Given the description of an element on the screen output the (x, y) to click on. 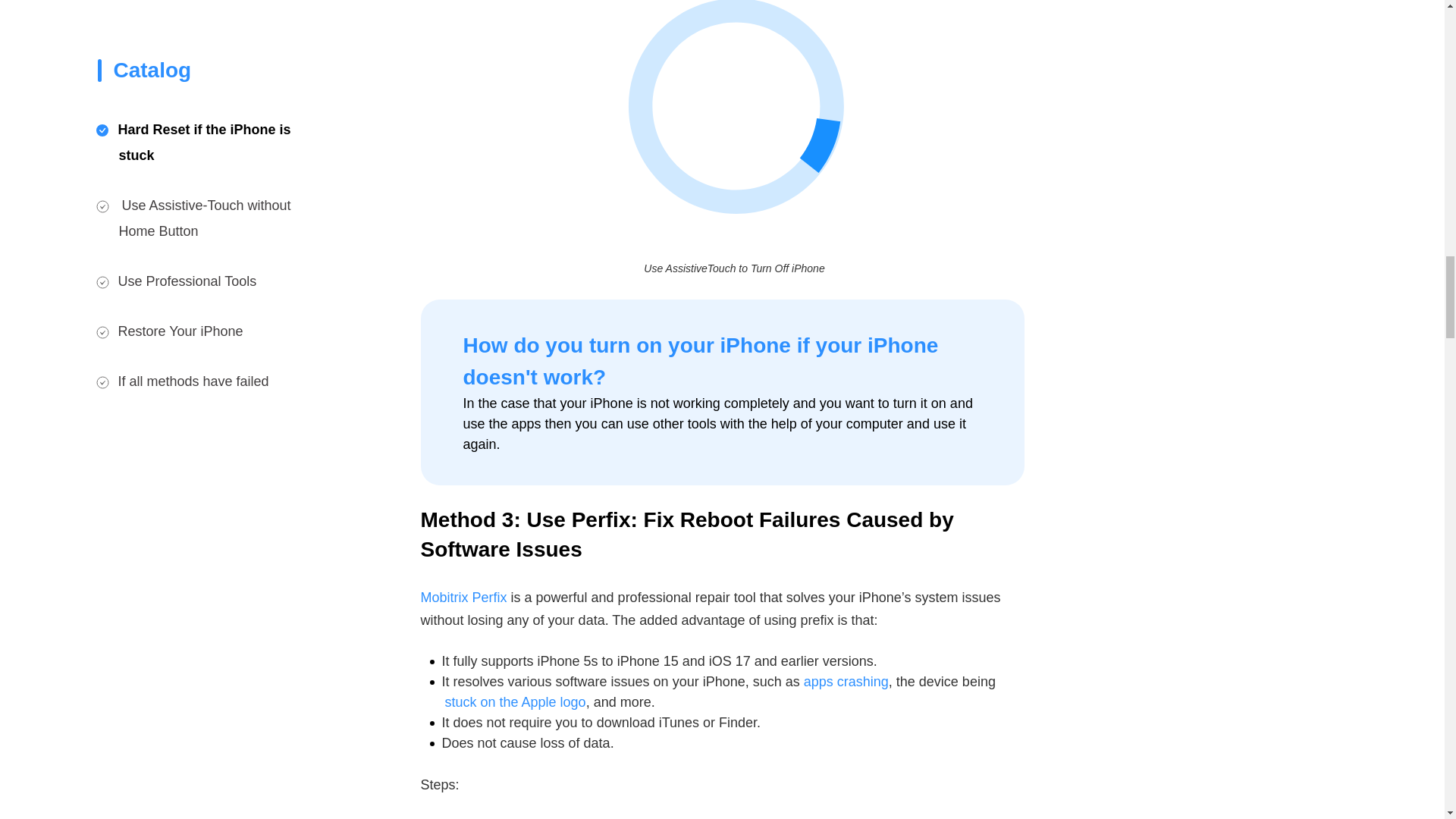
stuck on the Apple logo (514, 702)
Mobitrix Perfix (463, 597)
apps crashing (845, 680)
